Given the description of an element on the screen output the (x, y) to click on. 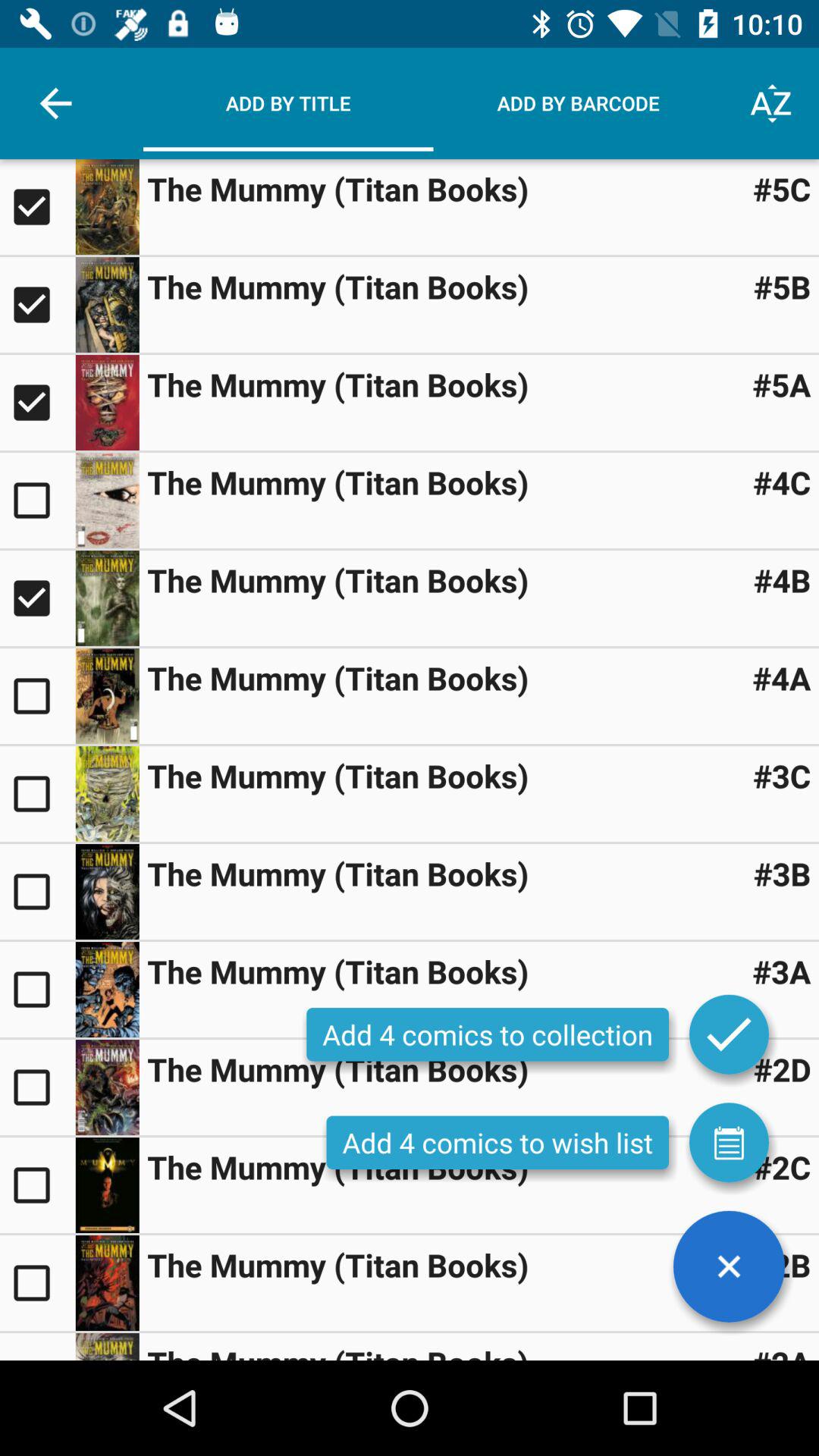
tap the item to the right of the the mummy titan (782, 1068)
